Given the description of an element on the screen output the (x, y) to click on. 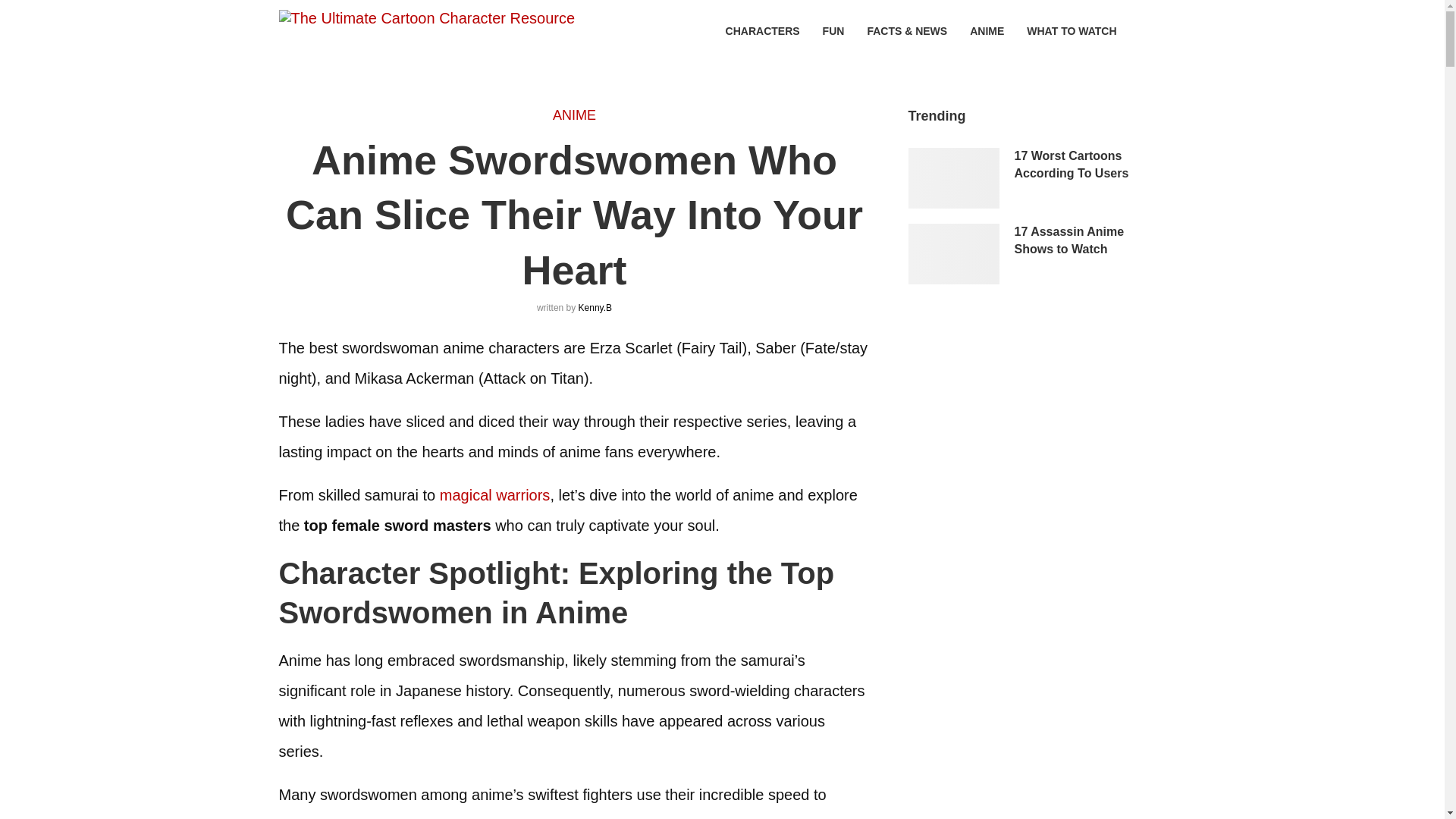
17 Worst Cartoons According To Users (1090, 164)
Kenny.B (594, 307)
magical warriors (494, 494)
17 Assassin Anime Shows to Watch (1090, 240)
17 Worst Cartoons According To Users (953, 178)
WHAT TO WATCH (1071, 30)
17 Assassin Anime Shows to Watch (1090, 240)
ANIME (574, 115)
17 Worst Cartoons According To Users (1090, 164)
17 Assassin Anime Shows to Watch (953, 253)
